Given the description of an element on the screen output the (x, y) to click on. 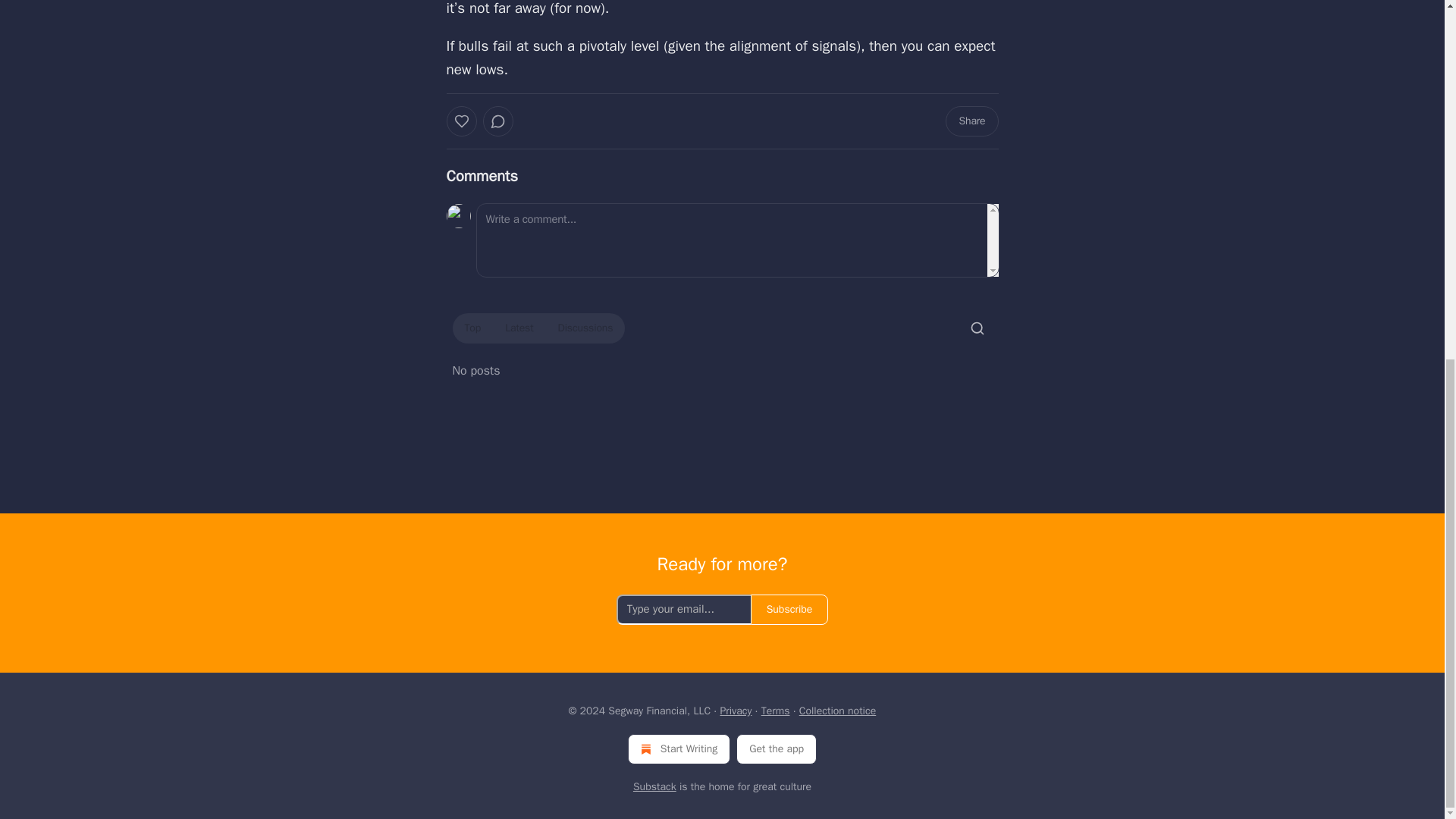
Collection notice (837, 710)
Latest (518, 328)
Share (970, 121)
Privacy (735, 710)
Top (471, 328)
Subscribe (789, 609)
Terms (775, 710)
Discussions (585, 328)
